Given the description of an element on the screen output the (x, y) to click on. 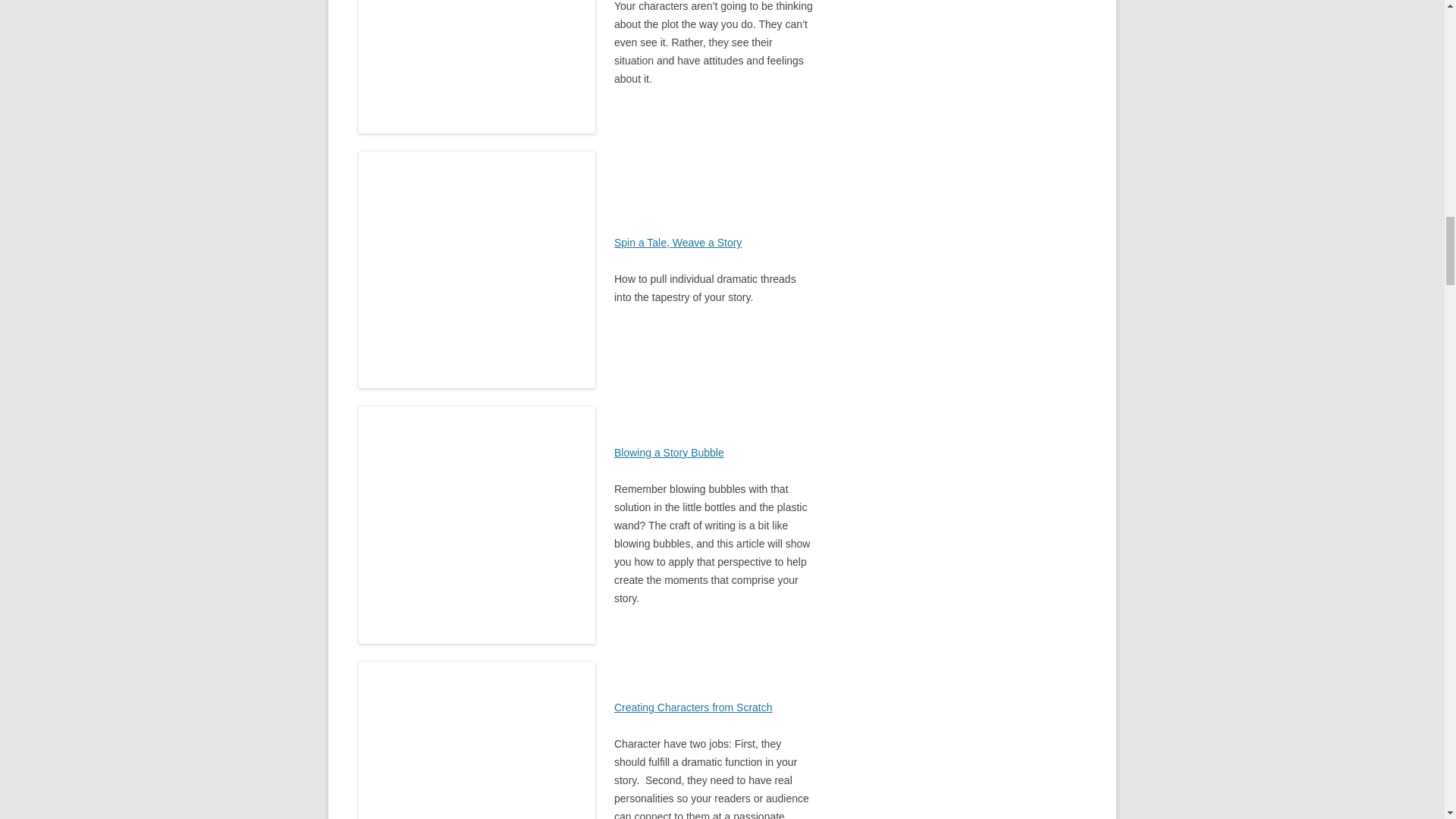
Spin a Tale, Weave a Story (677, 242)
Blowing a Story Bubble (668, 452)
Creating Characters from Scratch (693, 707)
